Given the description of an element on the screen output the (x, y) to click on. 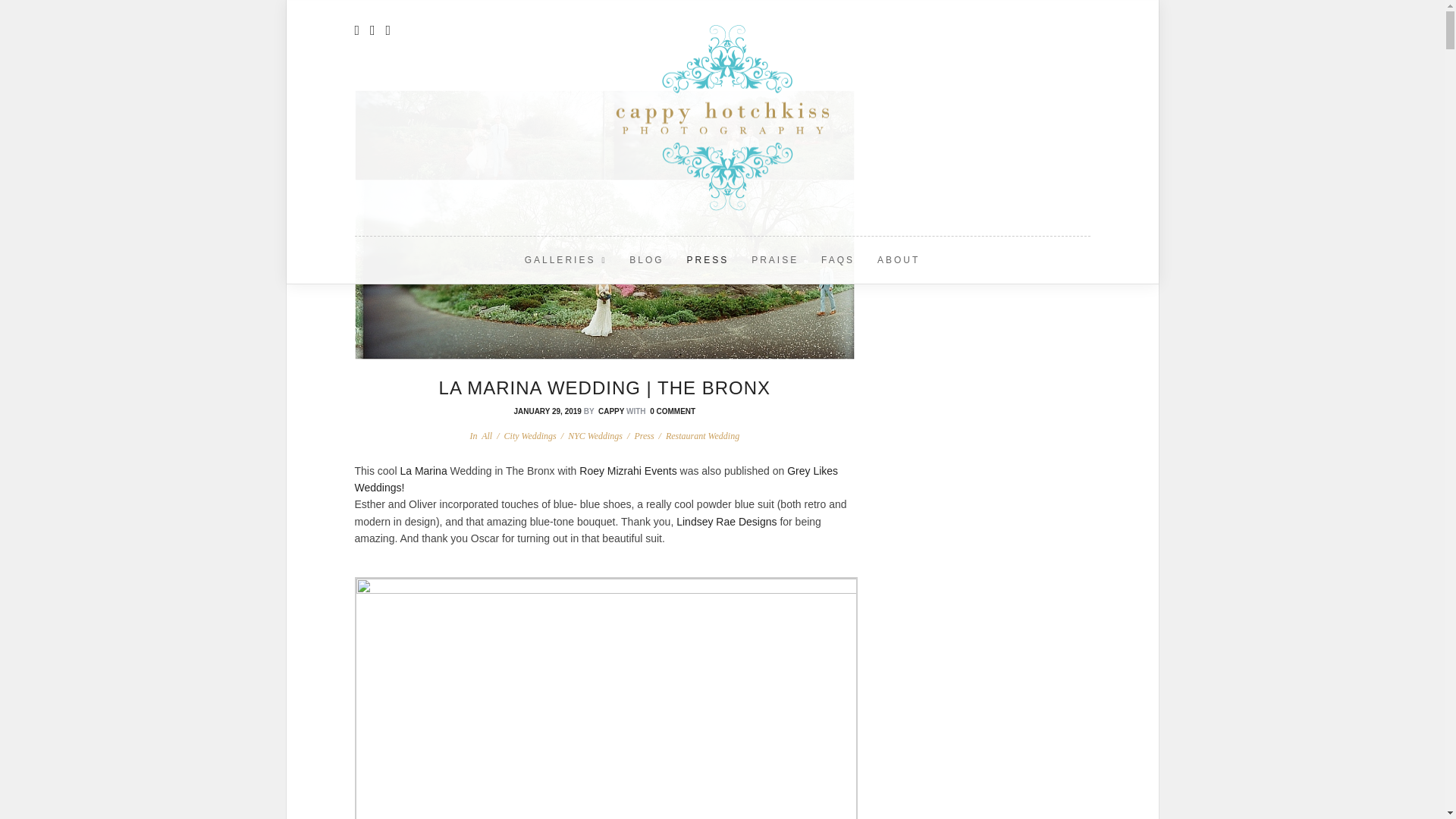
City Weddings (529, 435)
CAPPY (611, 411)
Roey Mizrahi Events (628, 470)
NYC Weddings (595, 435)
ABOUT (898, 259)
0 COMMENT (672, 411)
Grey Likes Weddings! (596, 479)
PRAISE (774, 259)
FAQS (837, 259)
La Marina (422, 470)
